Given the description of an element on the screen output the (x, y) to click on. 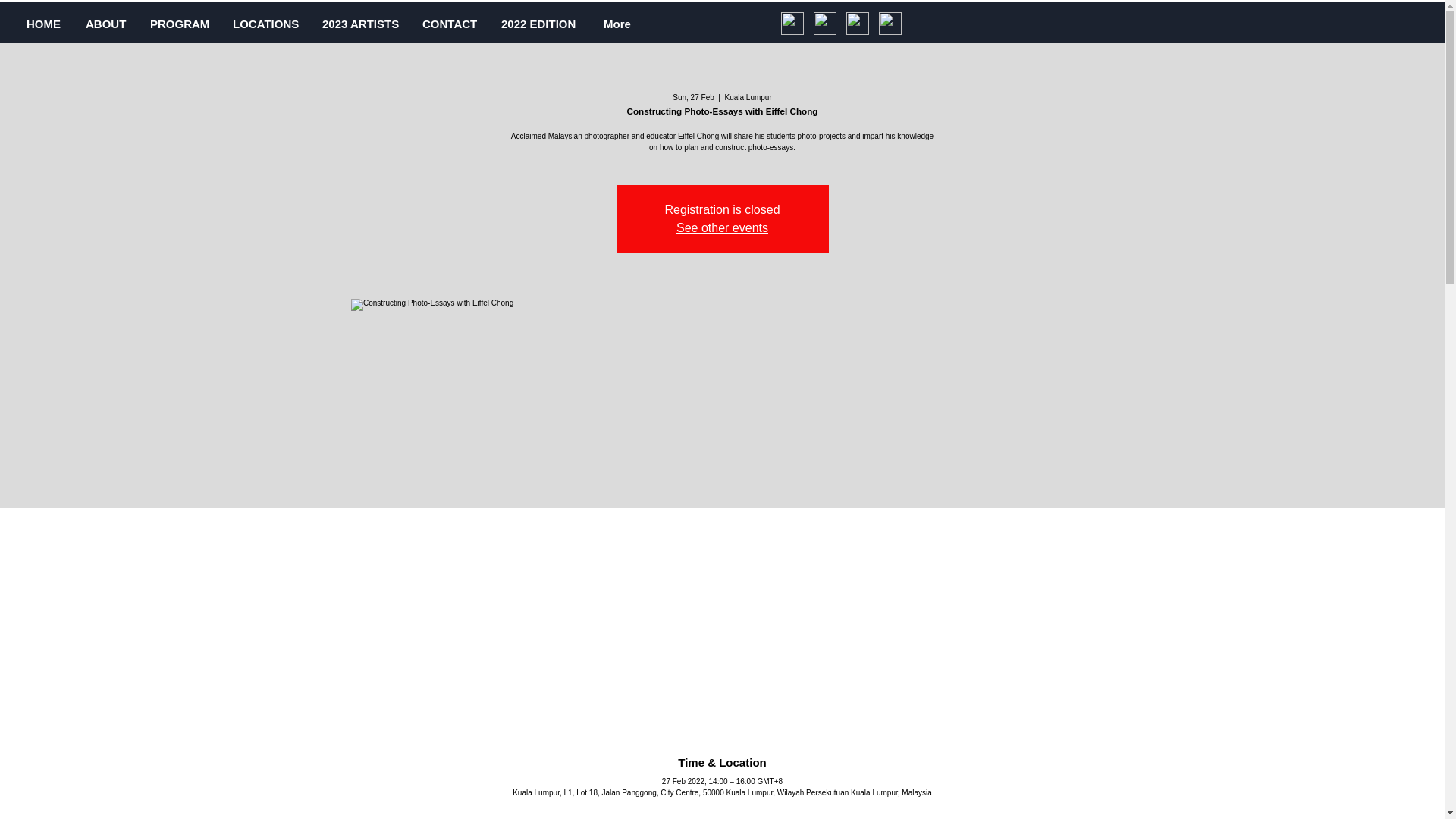
PROGRAM (179, 23)
LOCATIONS (266, 23)
ABOUT (106, 23)
2023 ARTISTS (360, 23)
2022 EDITION (540, 23)
CONTACT (449, 23)
See other events (722, 227)
HOME (44, 23)
